Given the description of an element on the screen output the (x, y) to click on. 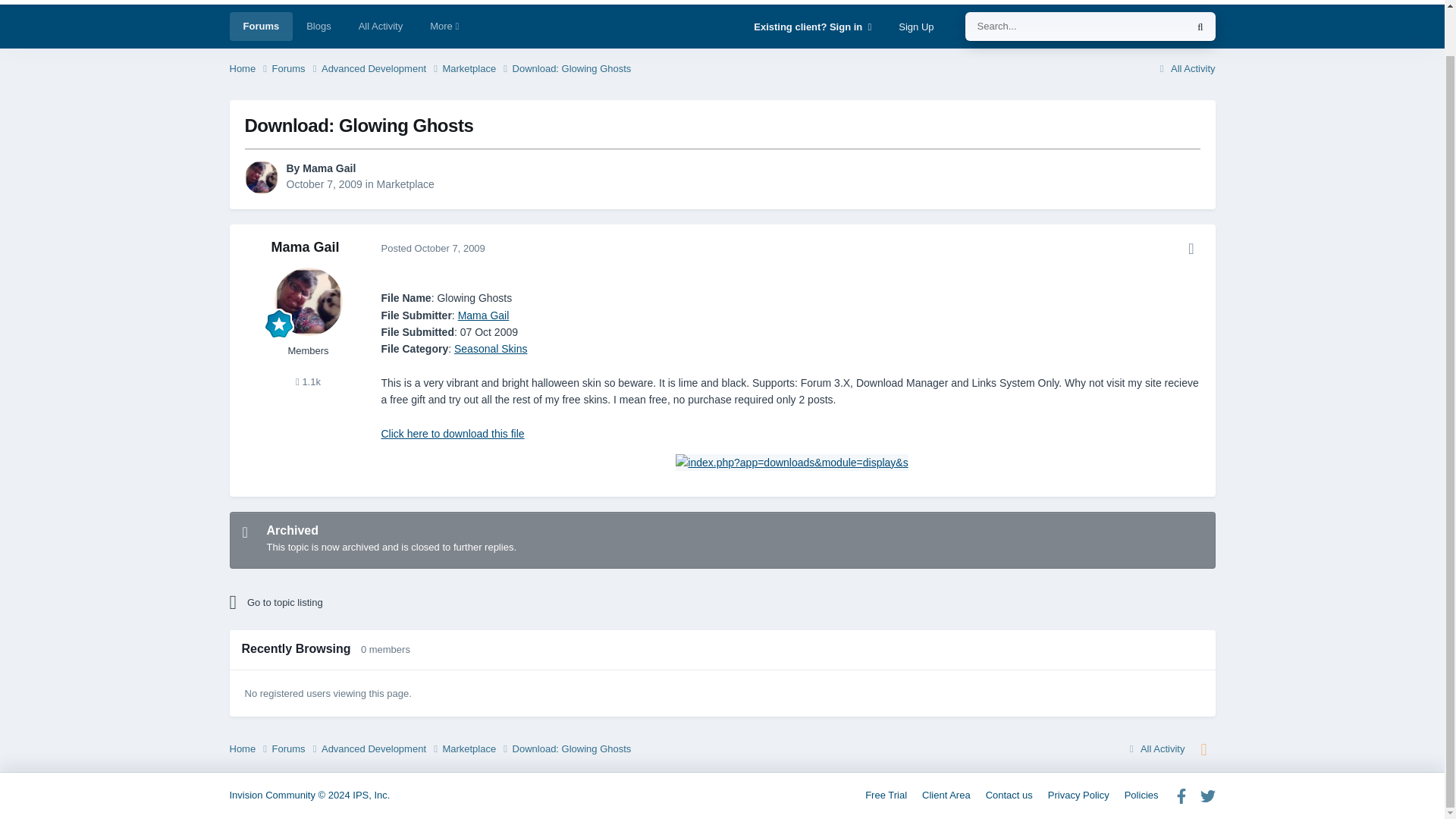
Home (249, 68)
